Given the description of an element on the screen output the (x, y) to click on. 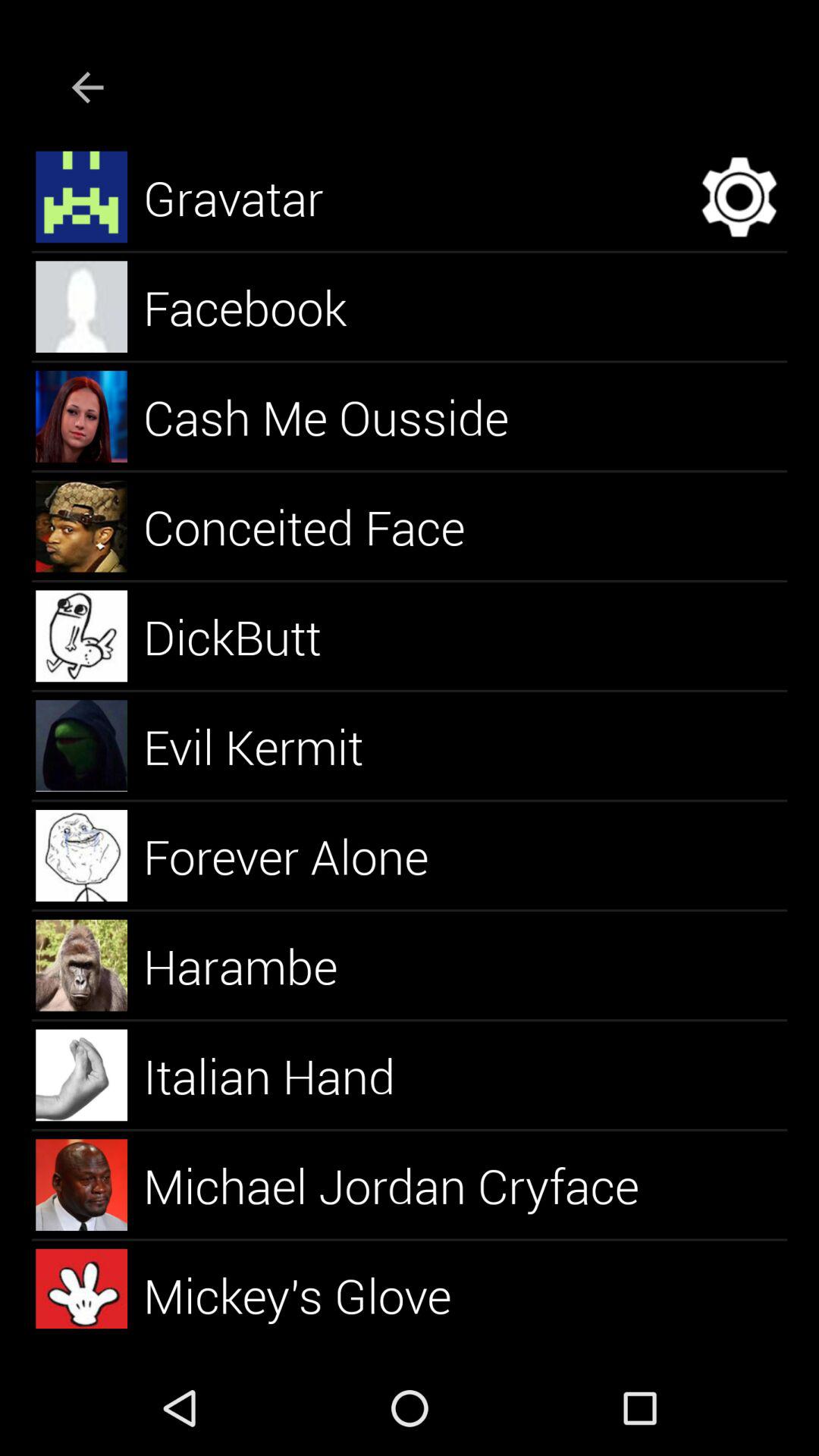
select dickbutt icon (250, 635)
